Given the description of an element on the screen output the (x, y) to click on. 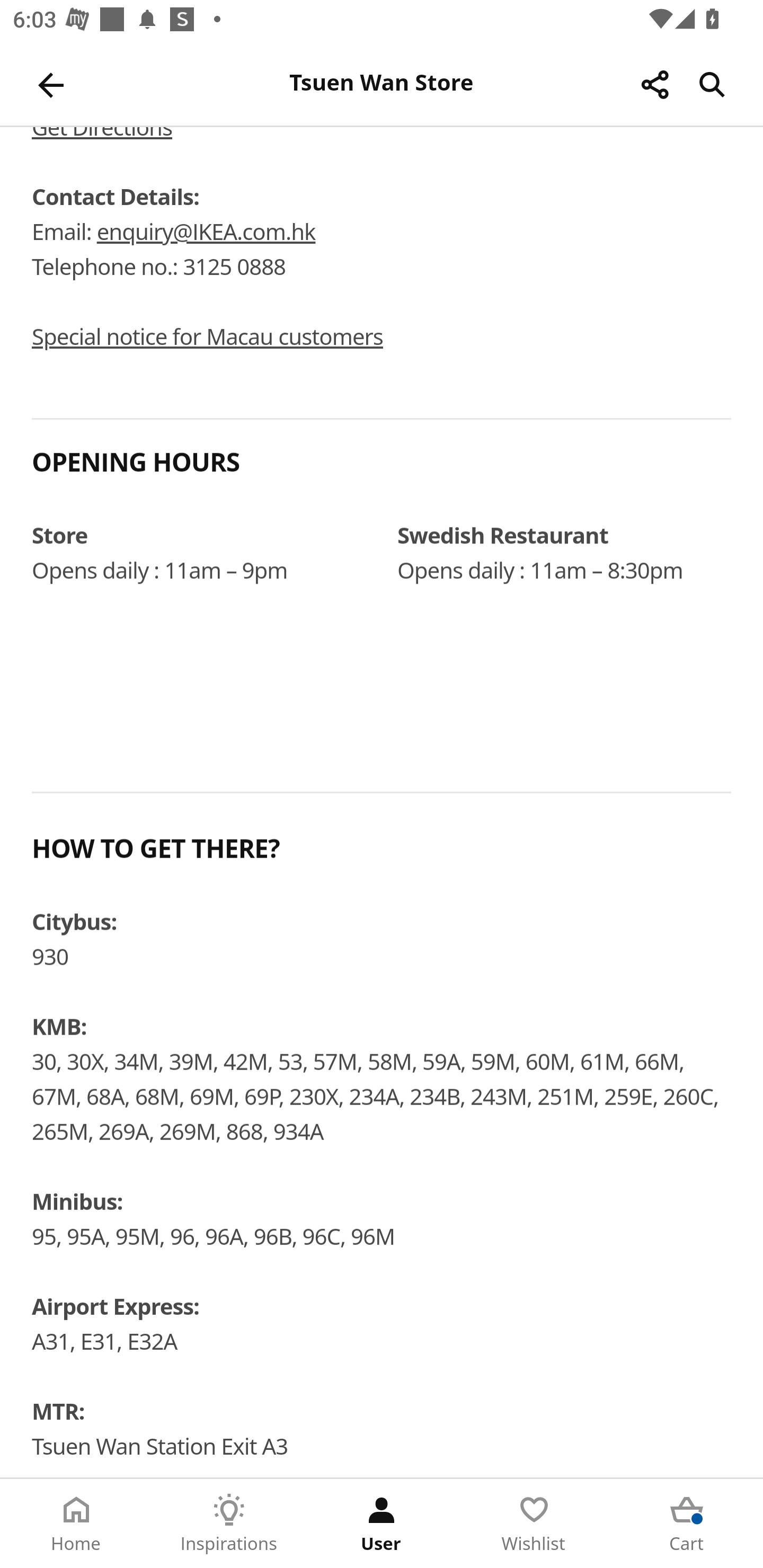
enquiry@IKEA.com.hk (205, 233)
Special notice for Macau customers (207, 338)
Home
Tab 1 of 5 (76, 1522)
Inspirations
Tab 2 of 5 (228, 1522)
User
Tab 3 of 5 (381, 1522)
Wishlist
Tab 4 of 5 (533, 1522)
Cart
Tab 5 of 5 (686, 1522)
